Given the description of an element on the screen output the (x, y) to click on. 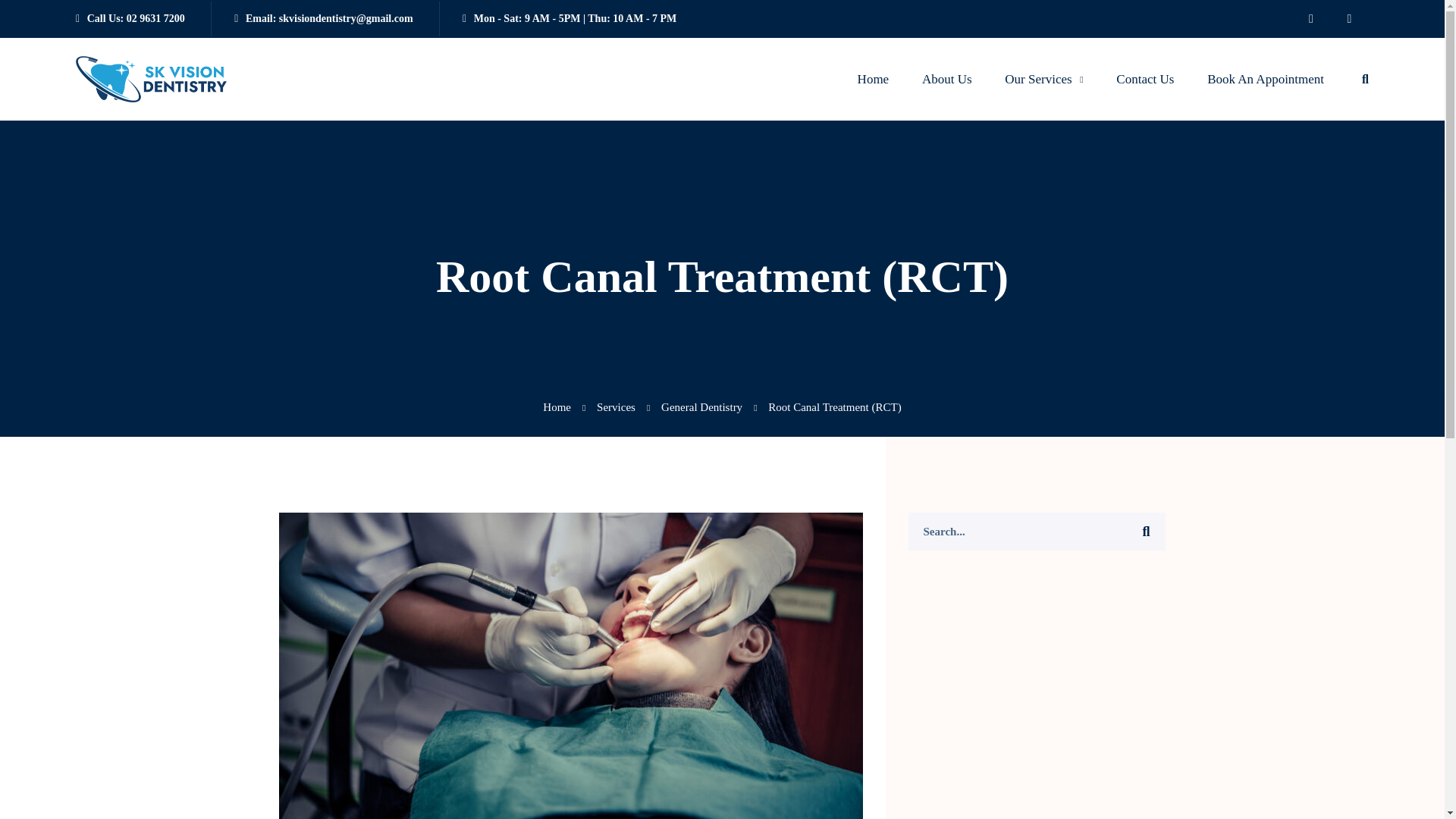
General Dentistry (709, 406)
Call Us: 02 9631 7200 (129, 18)
Our Services (1043, 78)
Search for: (1037, 531)
Home (873, 78)
Services (622, 406)
About Us (946, 78)
Book An Appointment (1265, 78)
Contact Us (1144, 78)
Home (564, 406)
